Given the description of an element on the screen output the (x, y) to click on. 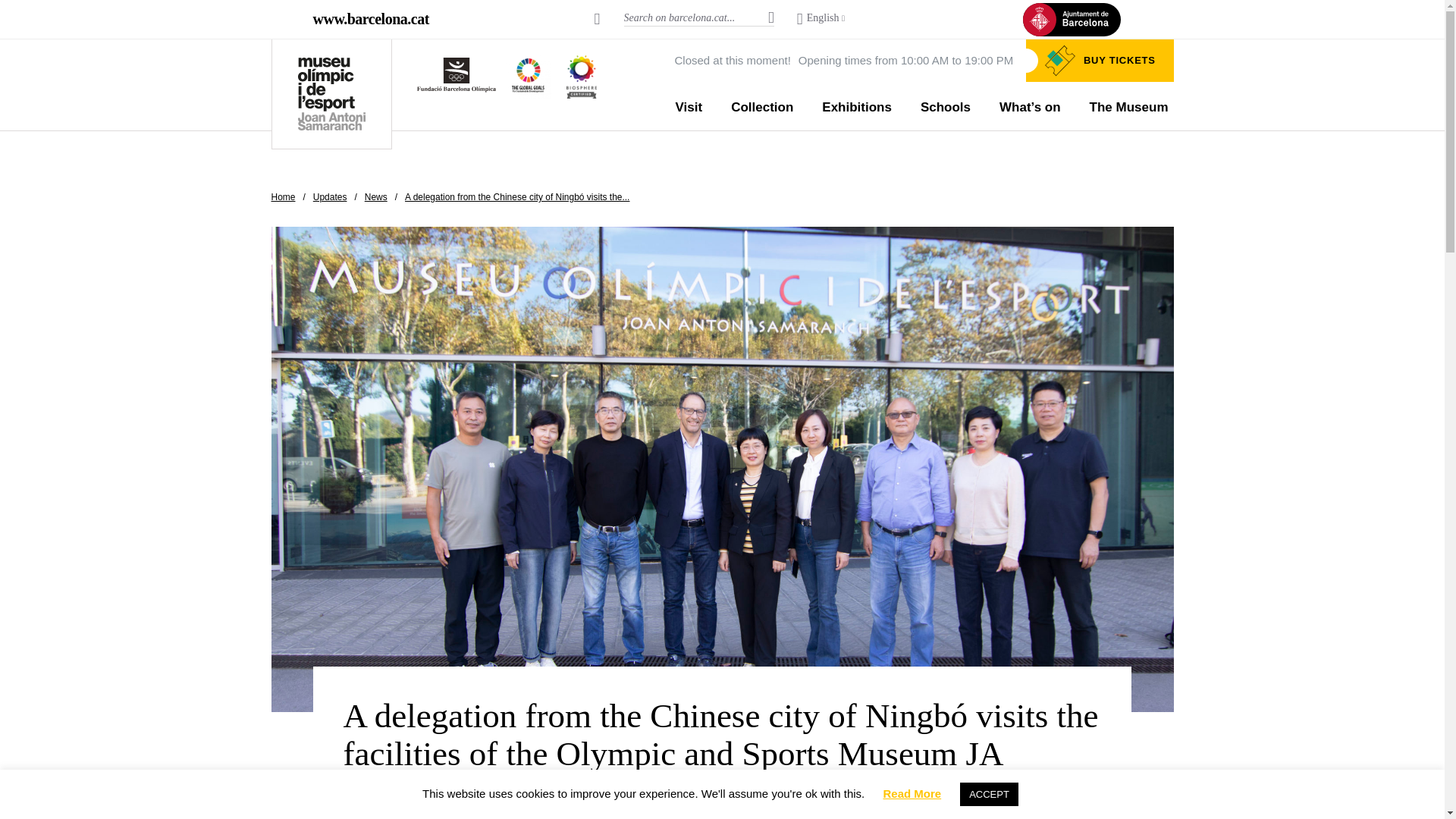
English (820, 18)
www.barcelona.cat (370, 18)
Updates (330, 196)
Change language (820, 18)
barcelona.cat shortcuts (596, 18)
Home (282, 196)
Barcelona (370, 18)
News (376, 196)
